Given the description of an element on the screen output the (x, y) to click on. 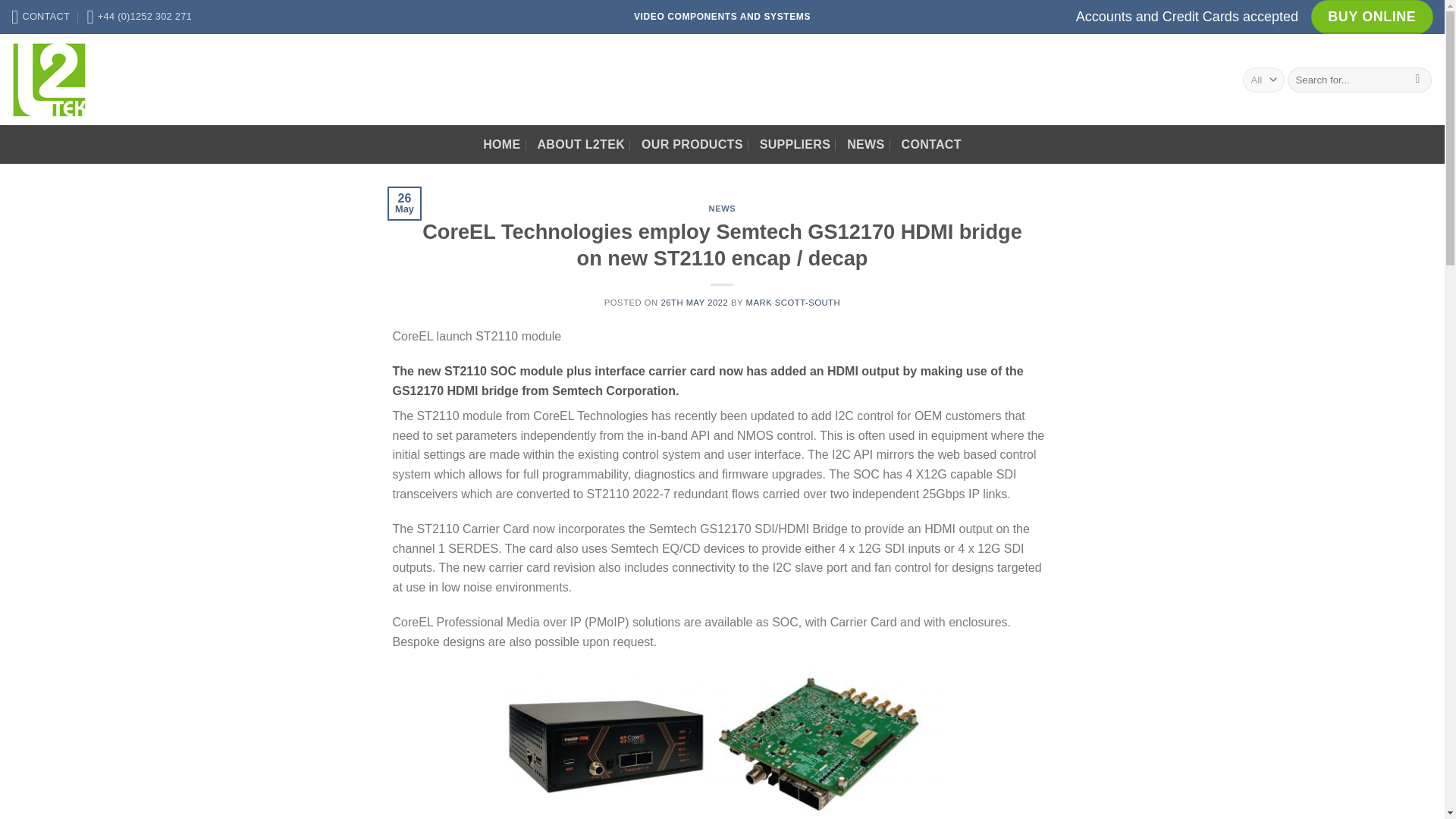
ABOUT L2TEK (580, 144)
NEWS (722, 207)
26TH MAY 2022 (694, 302)
HOME (501, 144)
OUR PRODUCTS (692, 144)
L2Tek - ELECTRONICS HARDWARE, SOFTWARE AND SEMICONDUCTOR IP (87, 79)
CONTACT (930, 144)
NEWS (865, 144)
CONTACT (40, 17)
SUPPLIERS (795, 144)
